Given the description of an element on the screen output the (x, y) to click on. 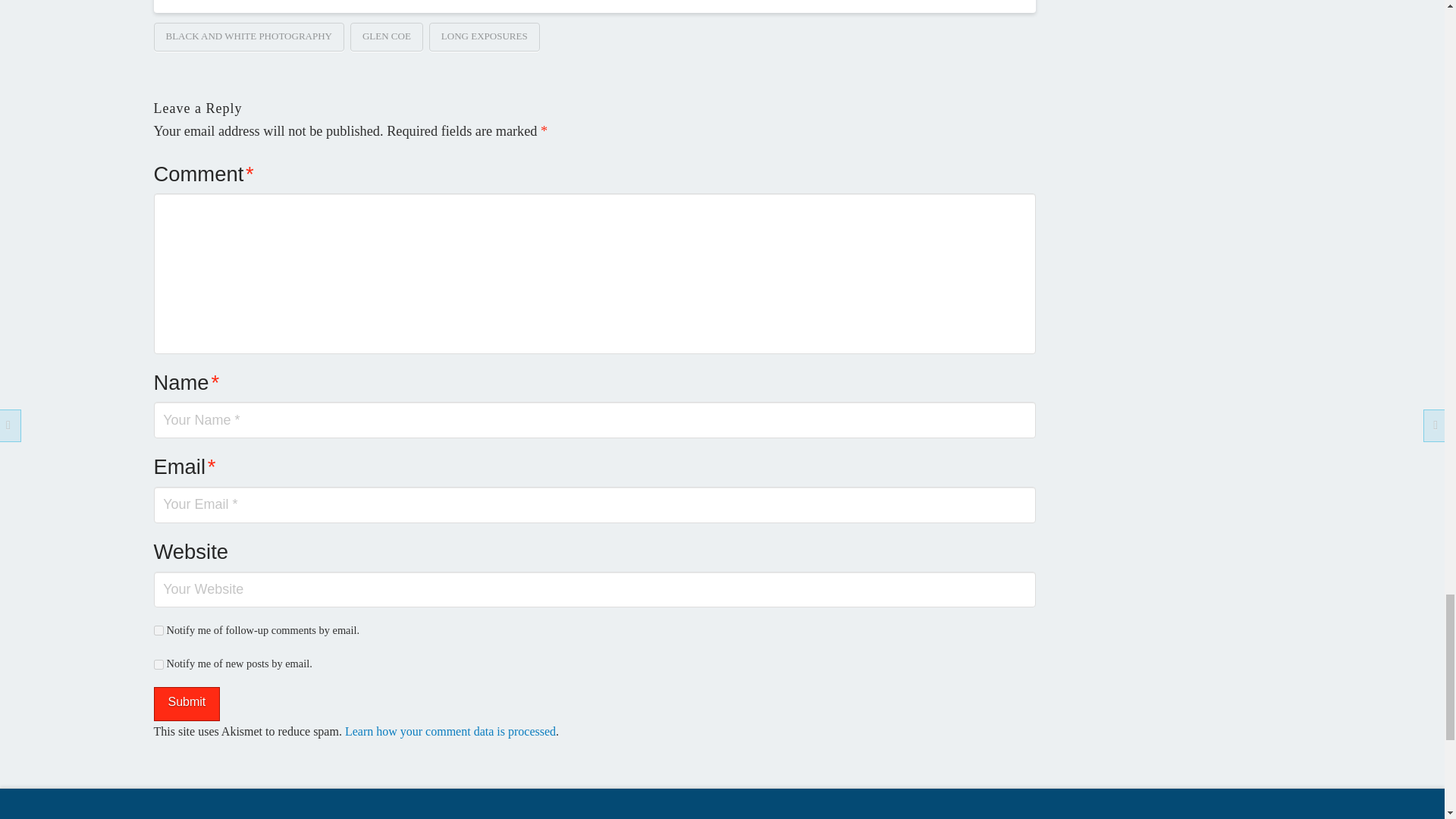
subscribe (157, 664)
subscribe (157, 630)
Submit (185, 704)
